Given the description of an element on the screen output the (x, y) to click on. 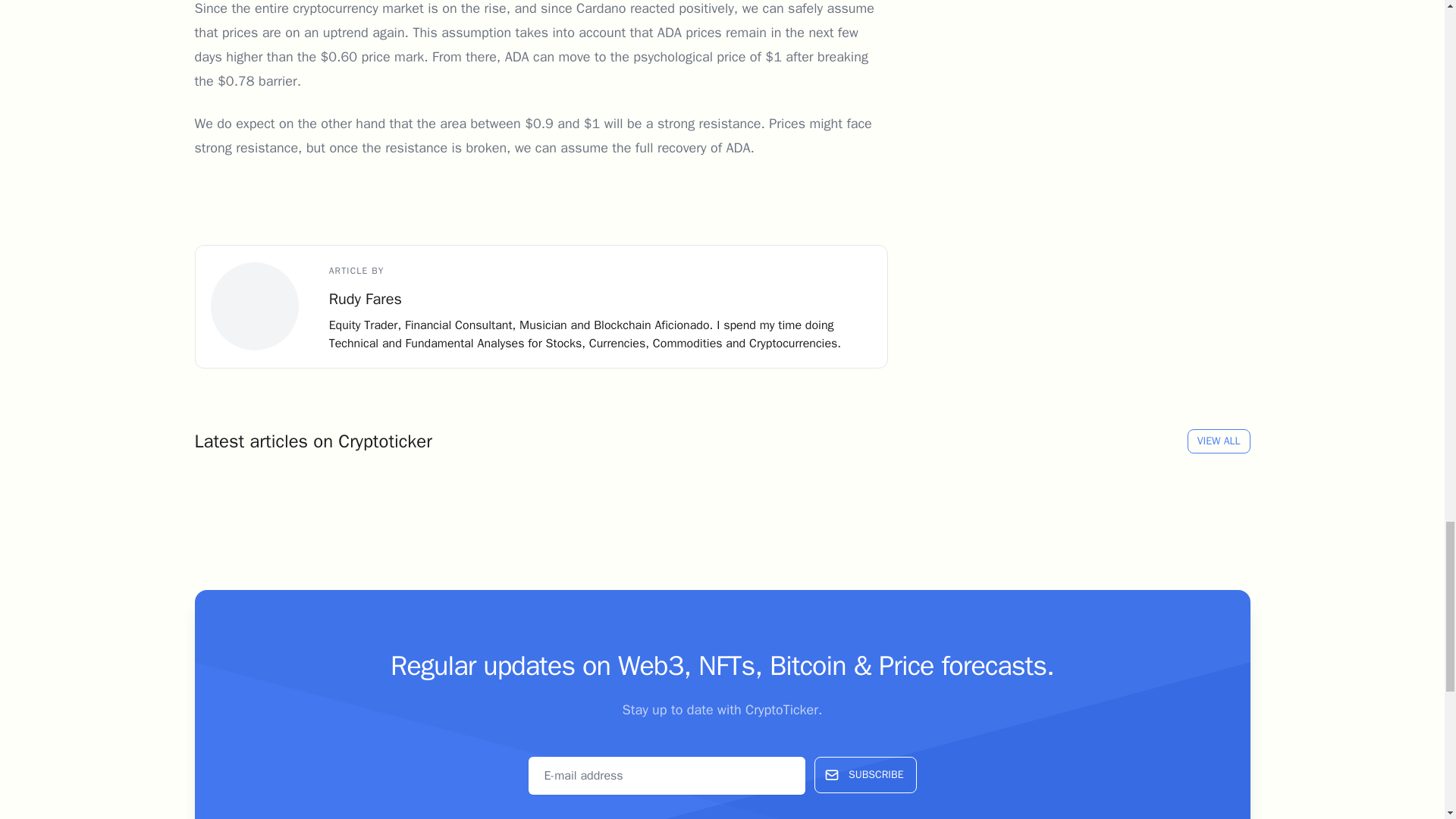
SUBSCRIBE (864, 774)
VIEW ALL (1219, 441)
